Given the description of an element on the screen output the (x, y) to click on. 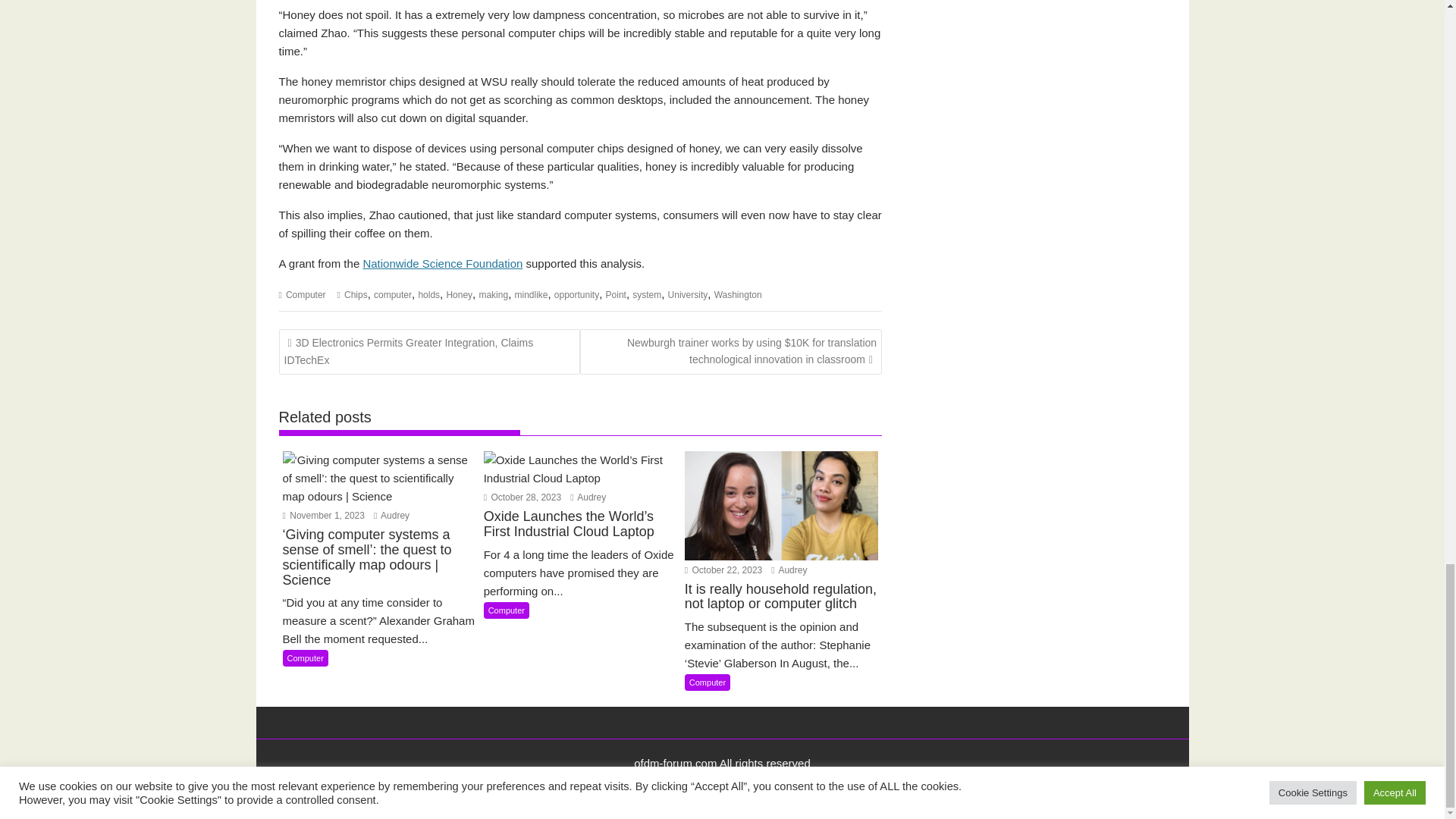
Audrey (788, 570)
Audrey (391, 515)
Audrey (587, 497)
